Given the description of an element on the screen output the (x, y) to click on. 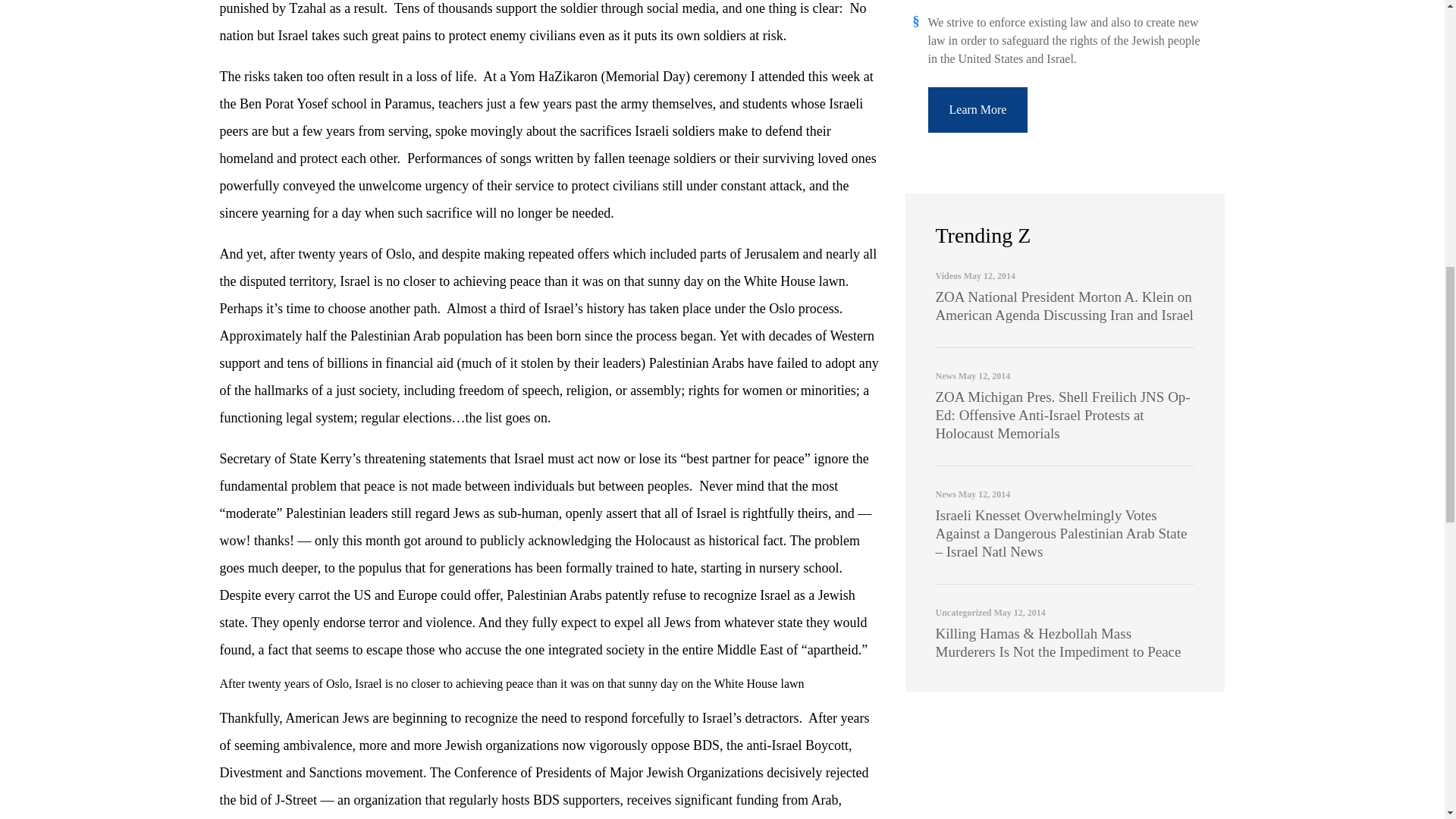
Videos (948, 276)
News (946, 493)
Uncategorized (963, 612)
News (946, 376)
